Given the description of an element on the screen output the (x, y) to click on. 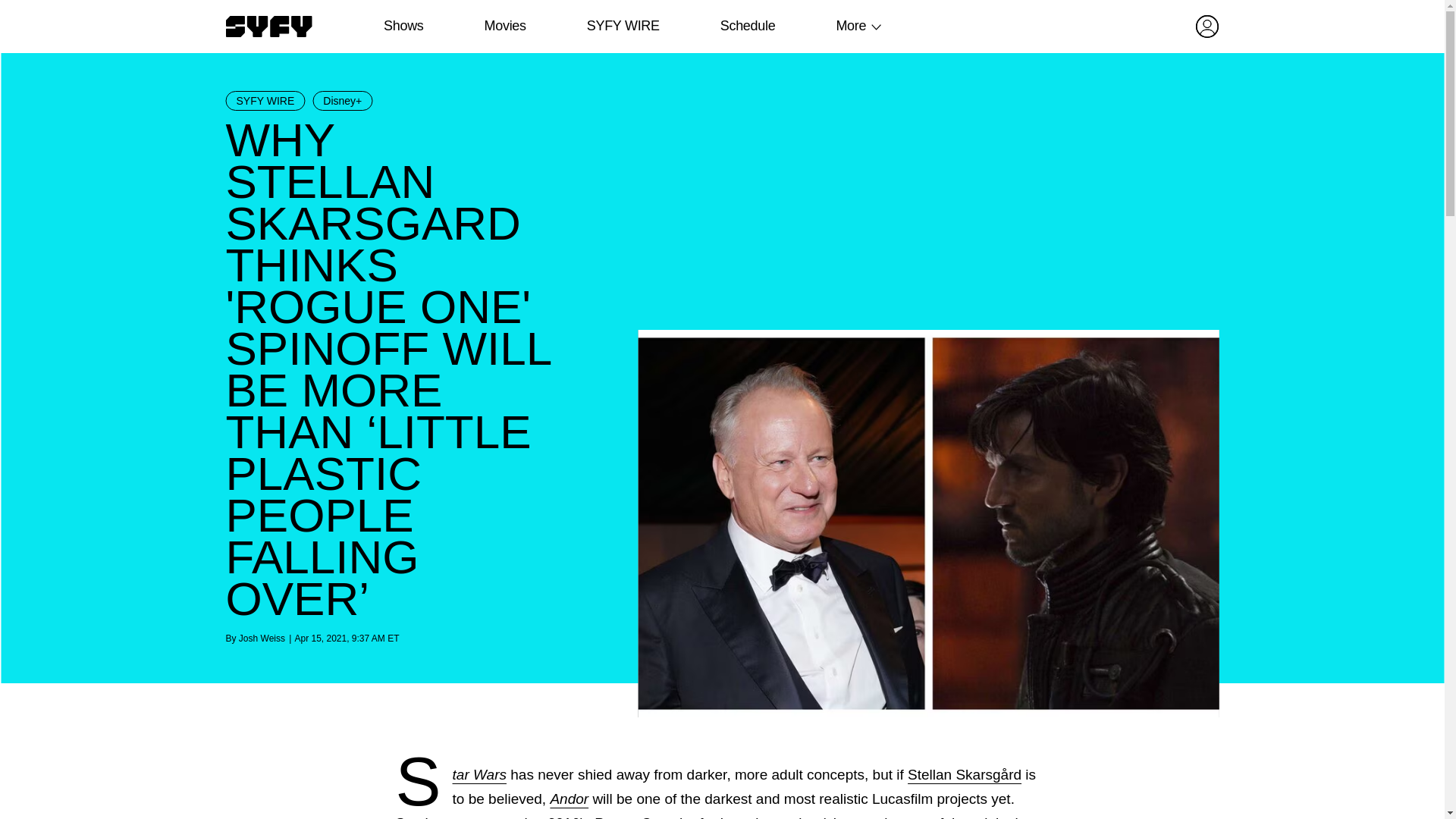
Shows (403, 26)
Rogue One (630, 816)
SYFY WIRE (622, 26)
Andor (569, 798)
Star Wars (479, 774)
Josh Weiss (261, 638)
Movies (504, 26)
SYFY WIRE (265, 100)
More (850, 26)
Schedule (746, 26)
